Given the description of an element on the screen output the (x, y) to click on. 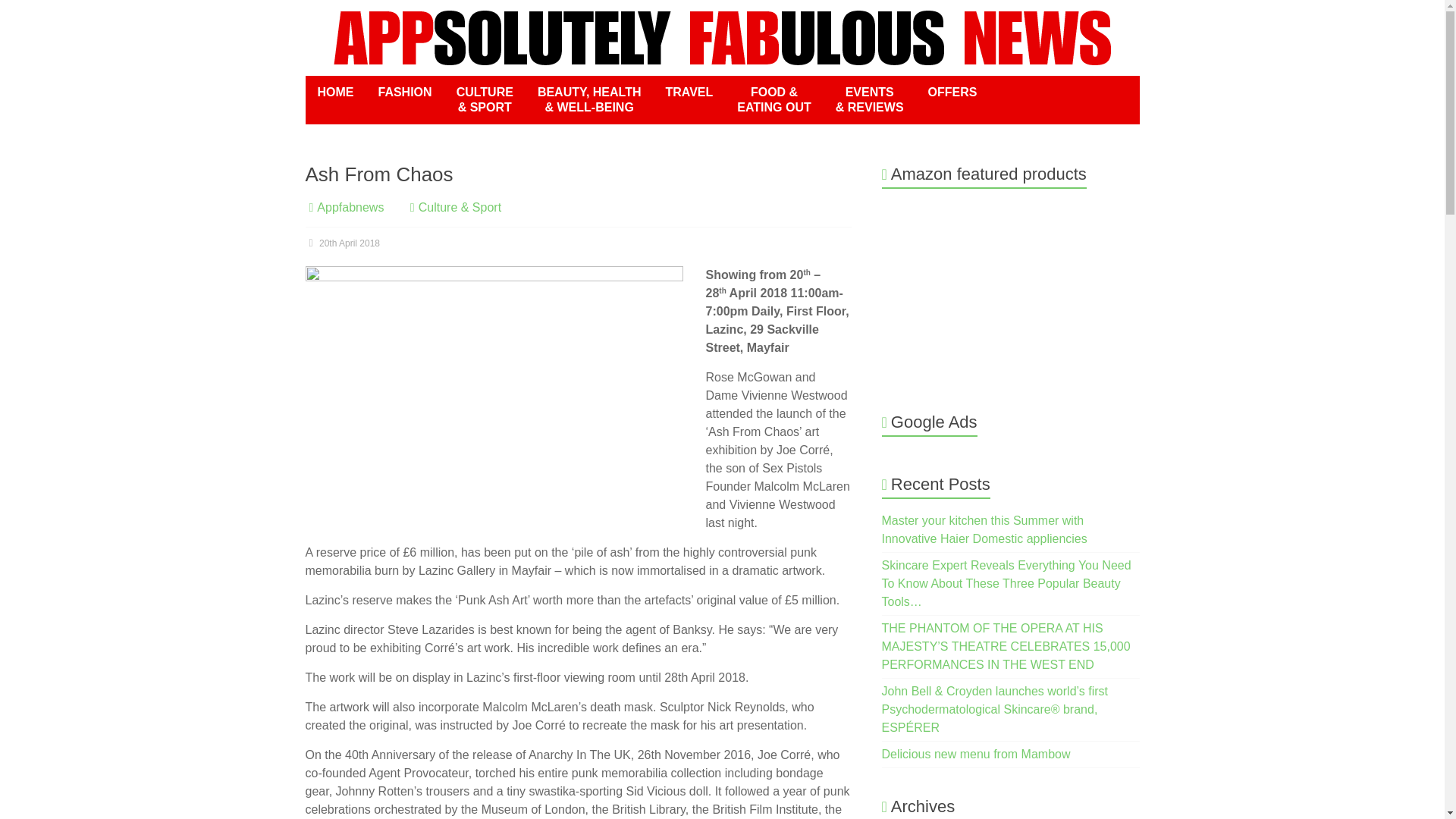
FASHION (404, 92)
OFFERS (952, 92)
TRAVEL (688, 92)
Appfabnews (350, 206)
HOME (334, 92)
20th April 2018 (342, 243)
3:00 pm (342, 243)
Delicious new menu from Mambow (976, 753)
Appfabnews (350, 206)
